Given the description of an element on the screen output the (x, y) to click on. 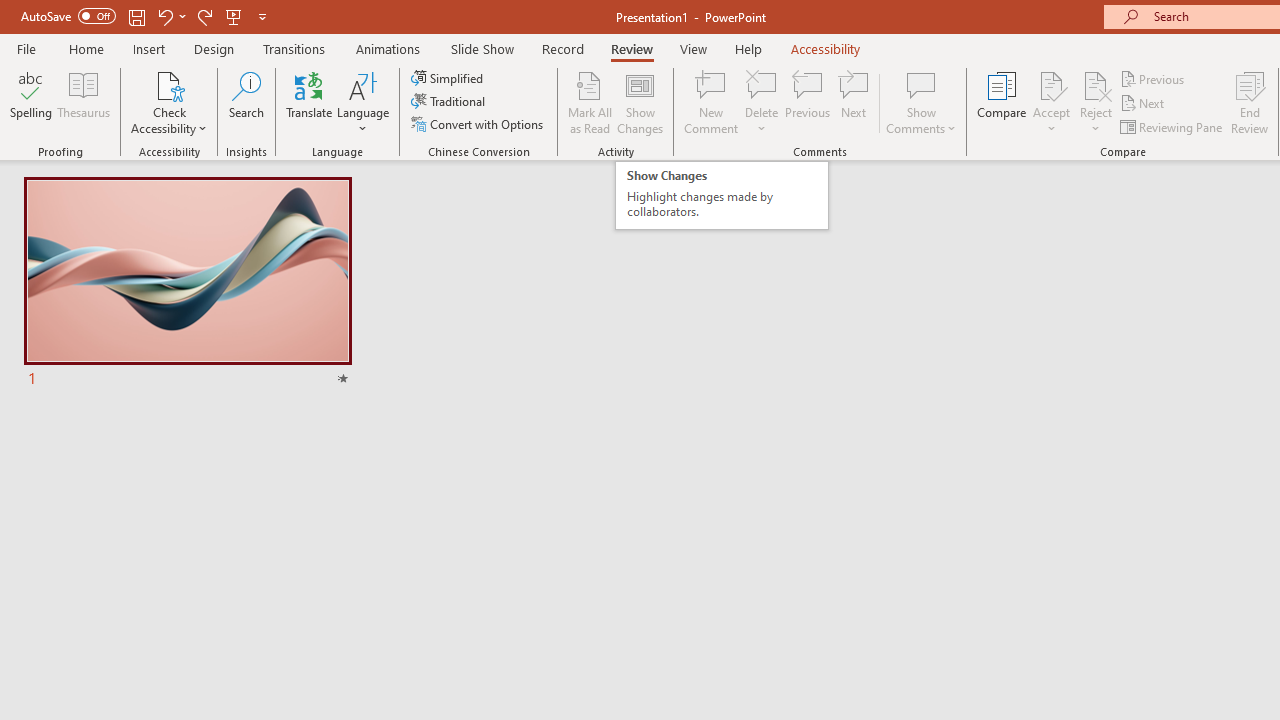
Convert with Options... (479, 124)
Accept (1051, 102)
Simplified (721, 195)
Translate (449, 78)
